Given the description of an element on the screen output the (x, y) to click on. 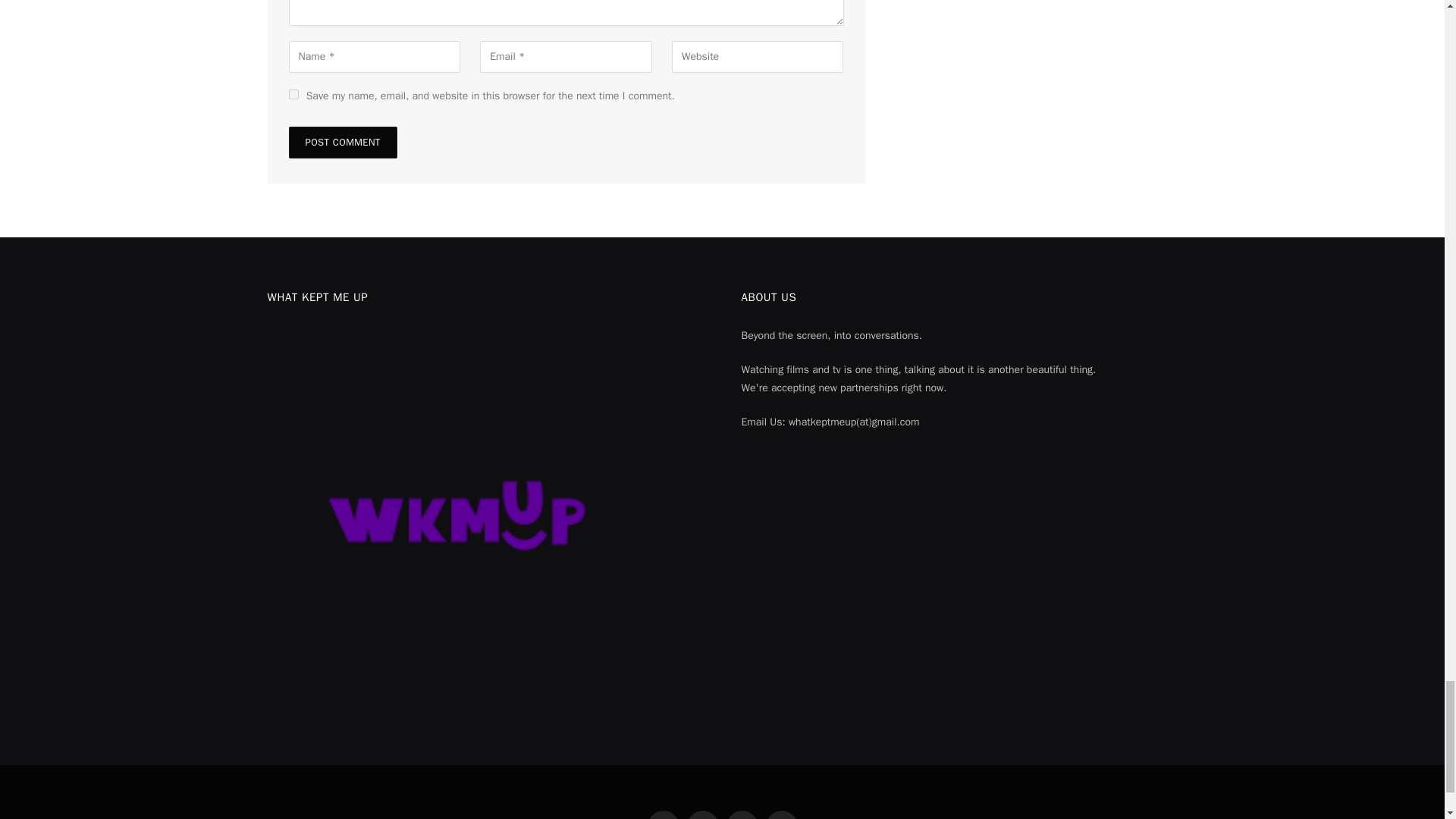
Post Comment (342, 142)
yes (293, 94)
